Given the description of an element on the screen output the (x, y) to click on. 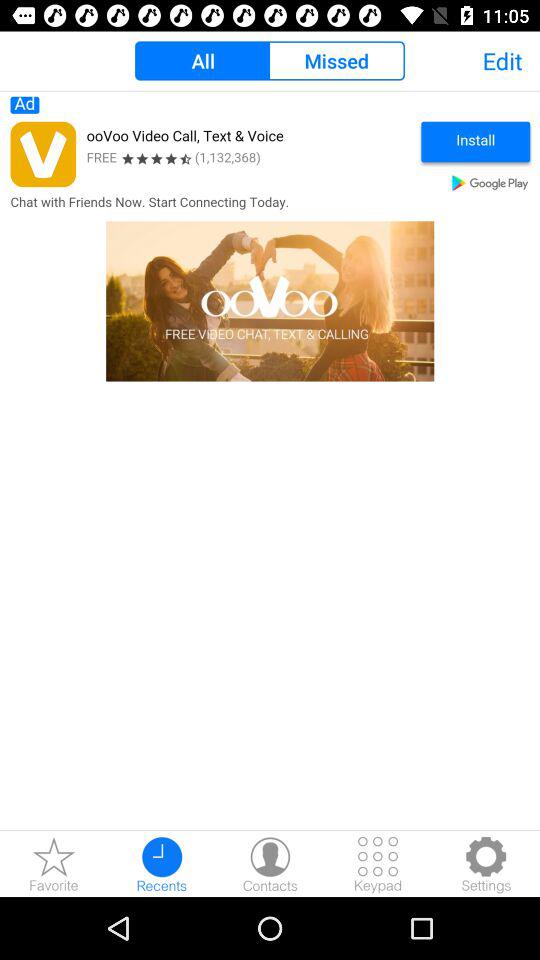
settings (485, 864)
